Given the description of an element on the screen output the (x, y) to click on. 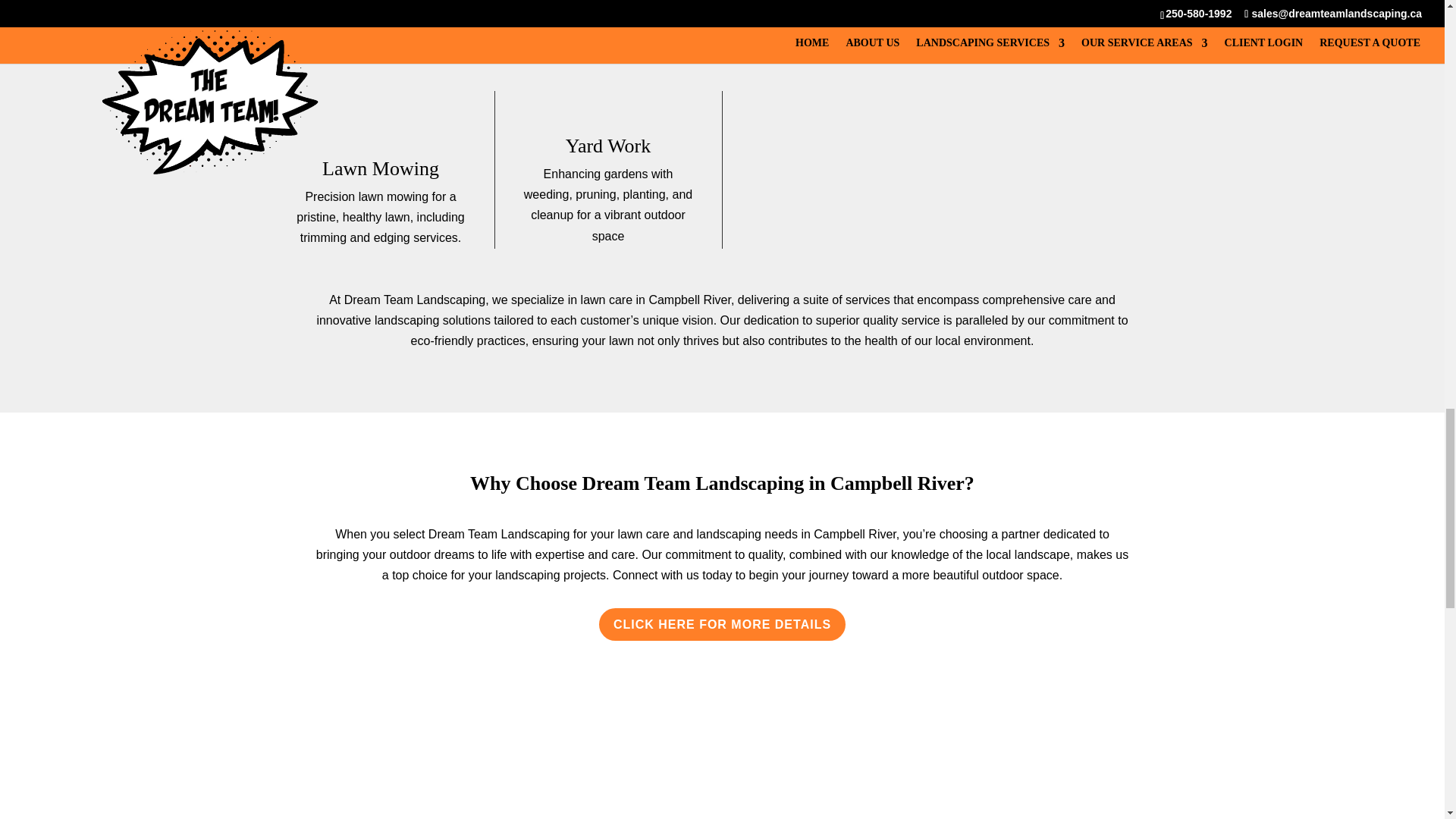
CLICK HERE FOR MORE DETAILS (721, 624)
The Dream Team (505, 750)
